Given the description of an element on the screen output the (x, y) to click on. 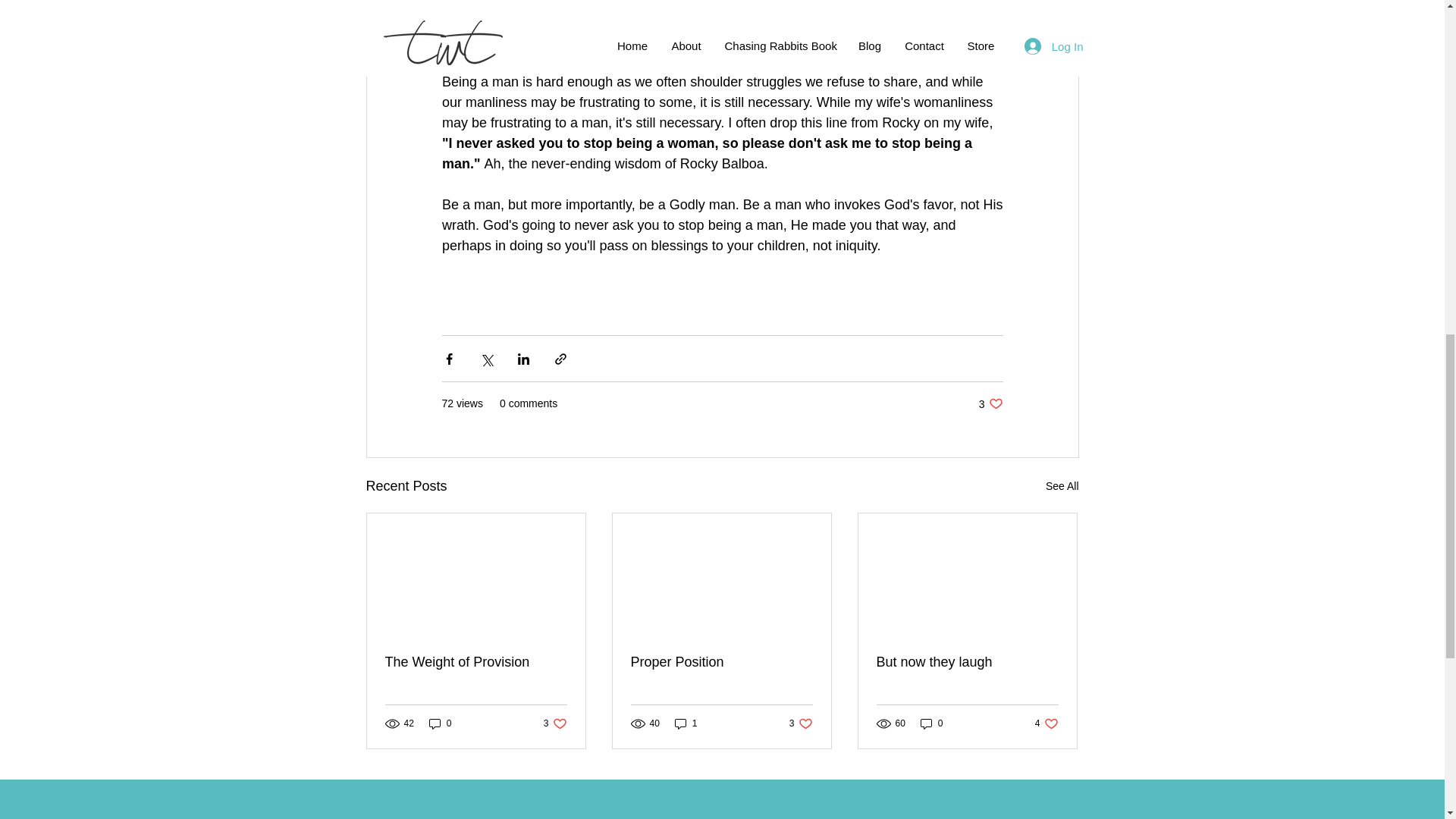
But now they laugh (967, 662)
0 (440, 722)
The Weight of Provision (990, 403)
Proper Position (476, 662)
0 (721, 662)
1 (931, 722)
See All (685, 722)
